Given the description of an element on the screen output the (x, y) to click on. 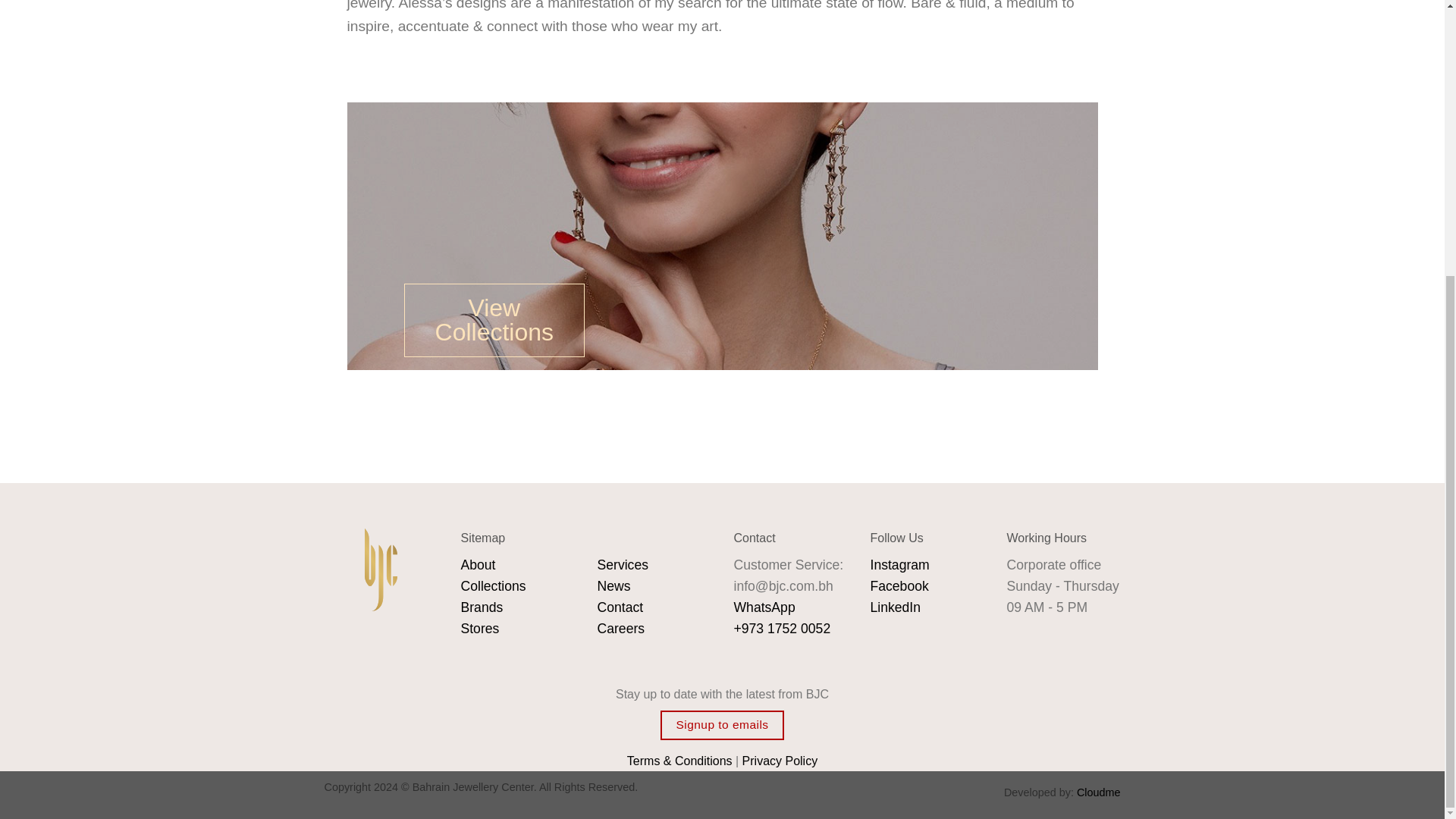
WhatsApp (763, 607)
Collections (493, 585)
About (478, 564)
Contact (619, 607)
LinkedIn (895, 607)
Facebook (899, 585)
View Collections (493, 319)
News (613, 585)
Stores (480, 628)
Careers (620, 628)
Instagram (900, 564)
Services (621, 564)
Brands (482, 607)
